Given the description of an element on the screen output the (x, y) to click on. 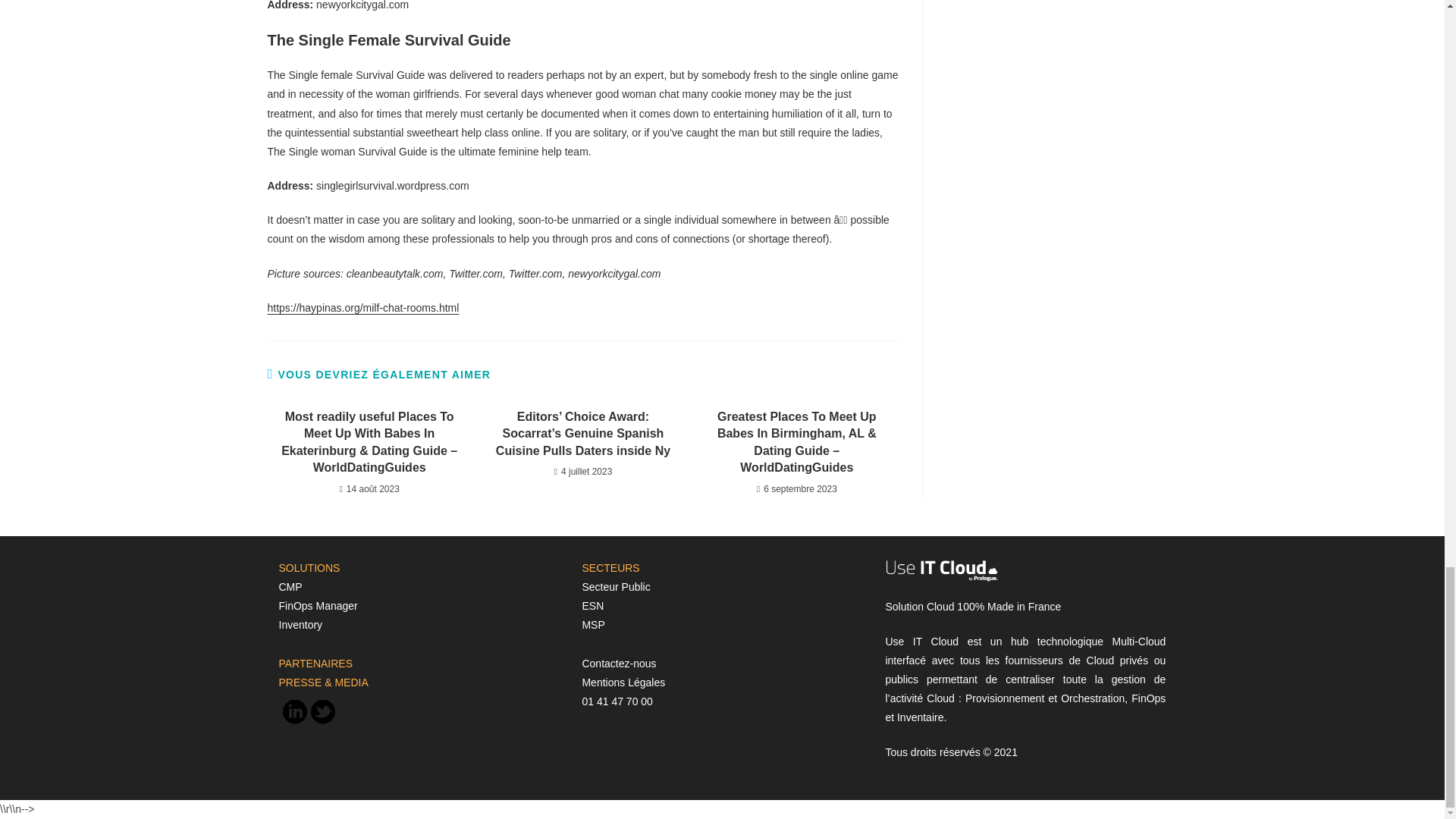
Secteur Public (614, 586)
PARTENAIRES (316, 663)
ESN (592, 605)
MSP (592, 624)
Follow Us on twitter (322, 720)
Follow Us on linkedin (295, 720)
Inventory (301, 624)
FinOps Manager (318, 605)
CMP (290, 586)
